Given the description of an element on the screen output the (x, y) to click on. 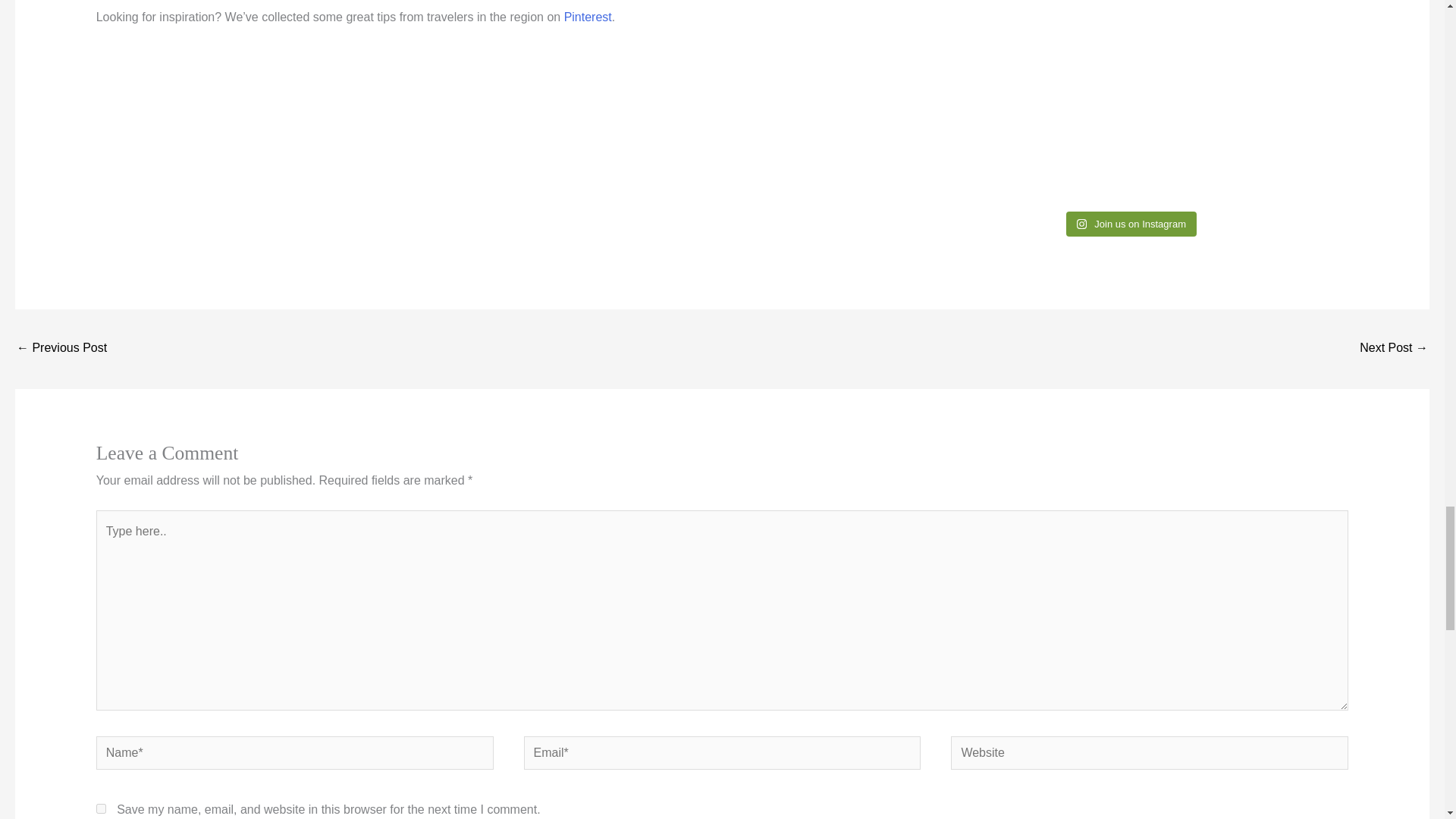
How we improved our French (61, 348)
6 months later... are we happy here? (1393, 348)
yes (101, 808)
Pinterest (587, 16)
